Given the description of an element on the screen output the (x, y) to click on. 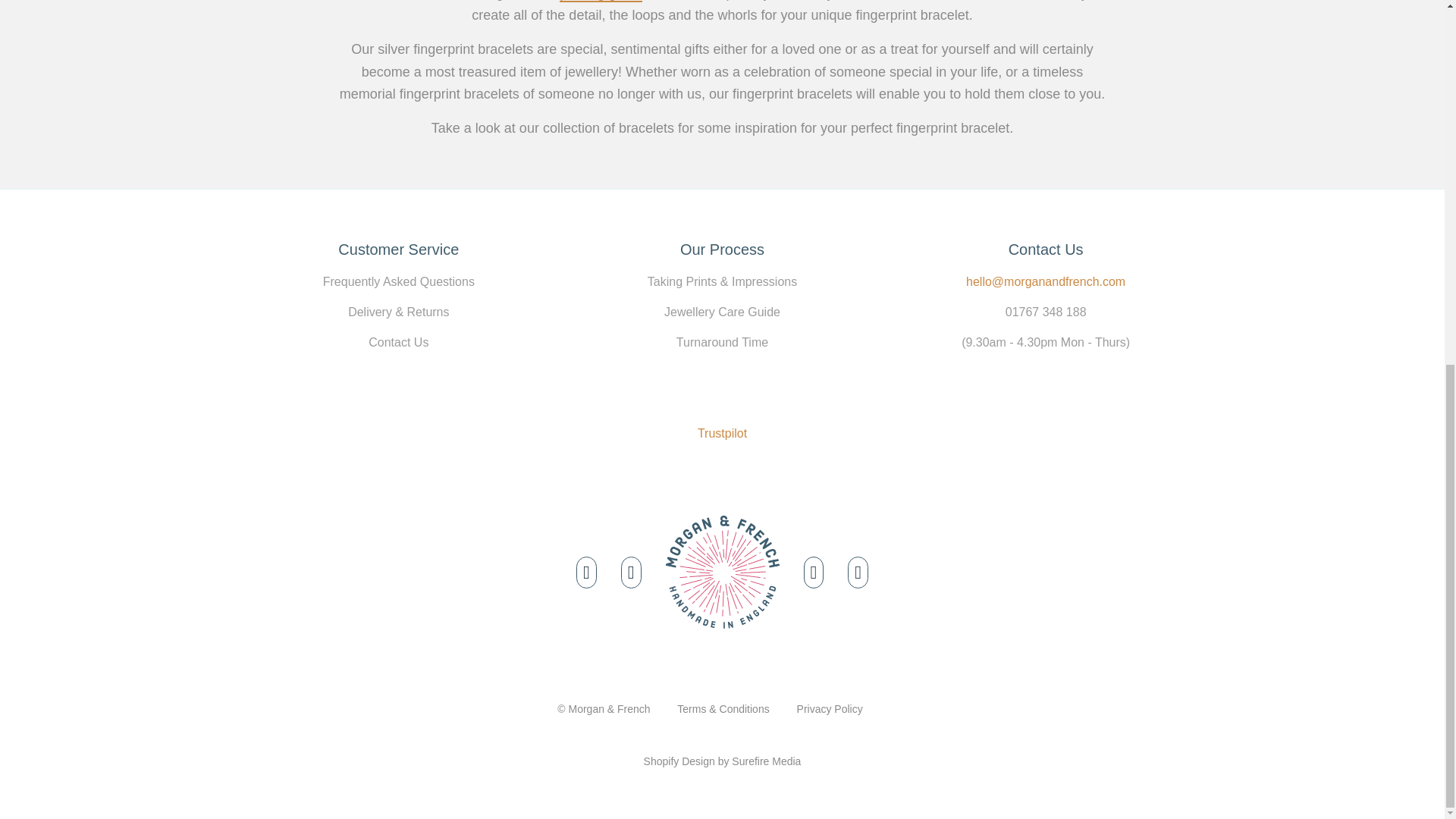
Back to the top (721, 571)
